Given the description of an element on the screen output the (x, y) to click on. 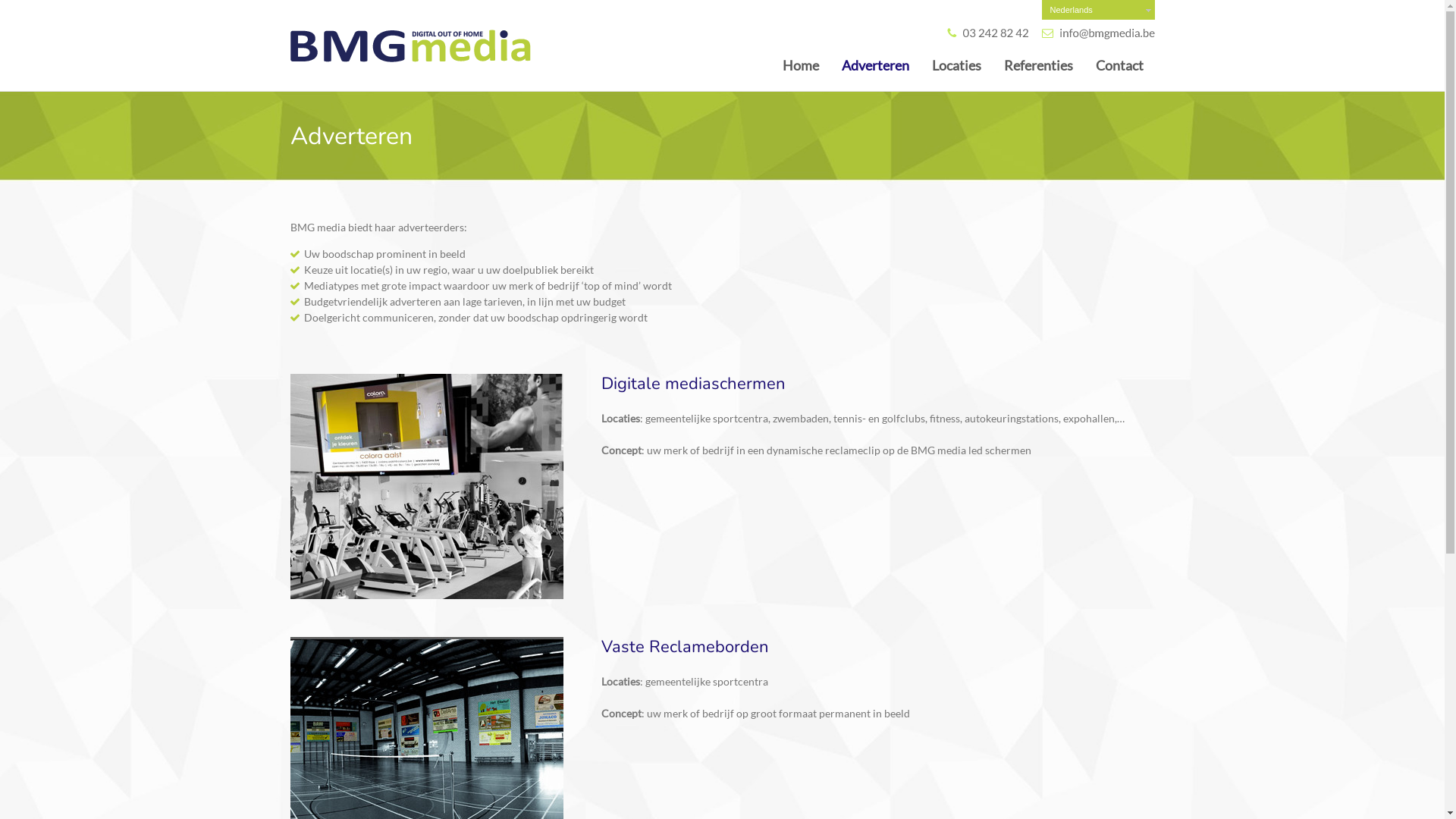
Adverteren Element type: text (874, 65)
Nederlands Element type: text (1097, 9)
Home Element type: text (799, 65)
Locaties Element type: text (956, 65)
Contact Element type: text (1119, 65)
Referenties Element type: text (1037, 65)
